Given the description of an element on the screen output the (x, y) to click on. 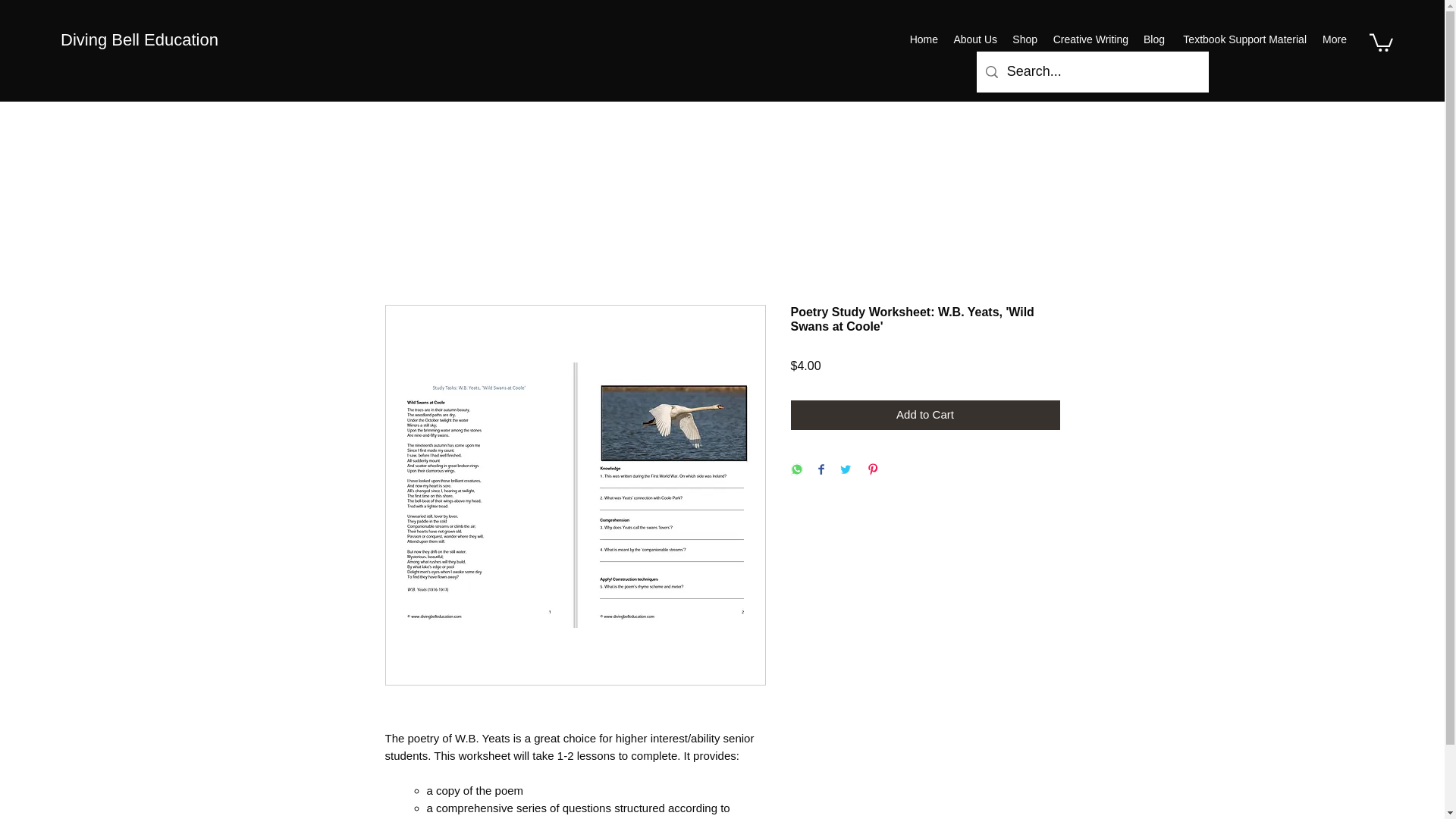
Shop (1024, 38)
Add to Cart (924, 414)
Creative Writing (1090, 38)
Diving Bell Education (139, 39)
Home (922, 38)
Textbook Support Material (1243, 38)
About Us (974, 38)
Blog (1153, 38)
